Given the description of an element on the screen output the (x, y) to click on. 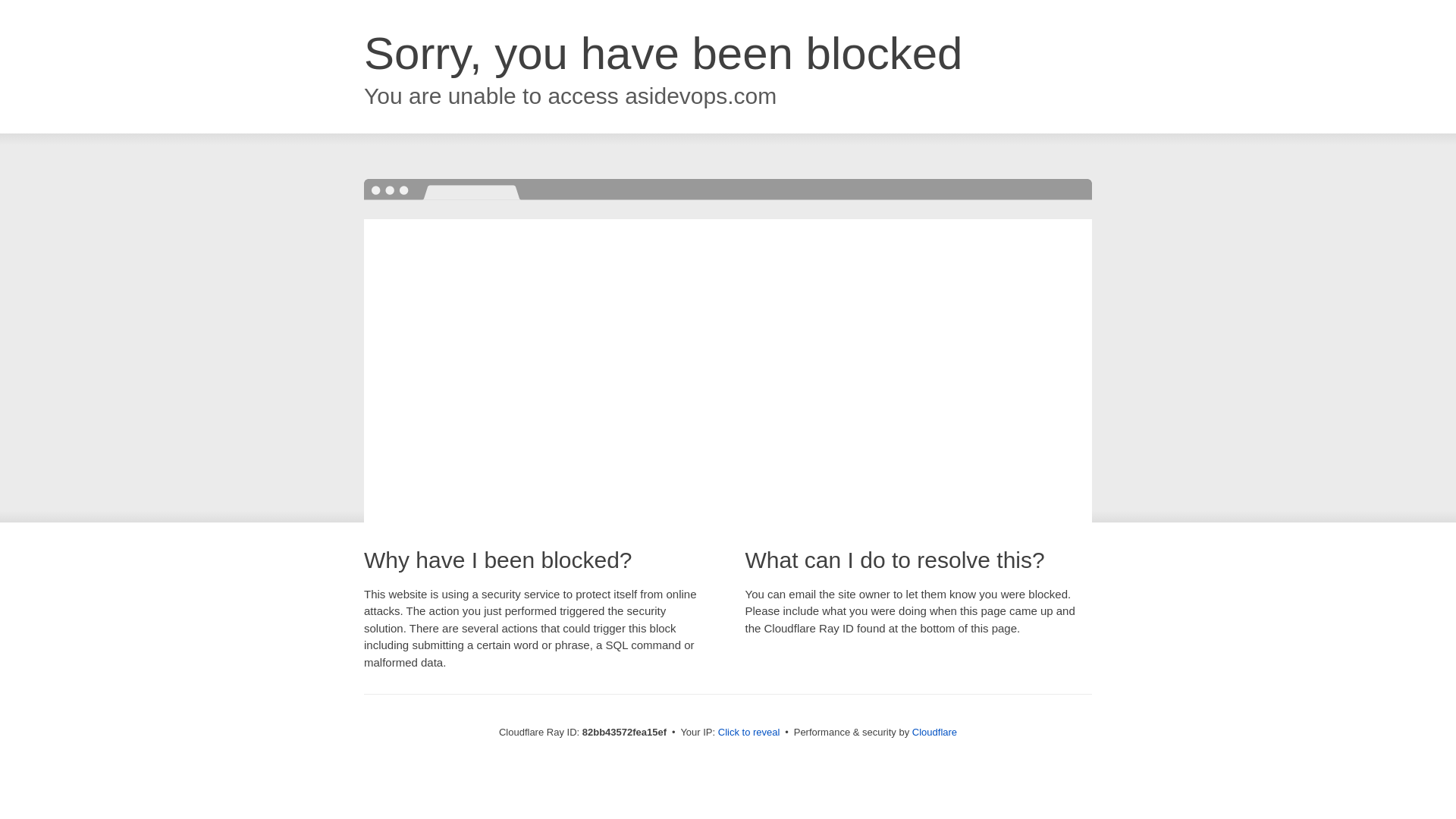
Click to reveal Element type: text (749, 732)
Cloudflare Element type: text (934, 731)
